Given the description of an element on the screen output the (x, y) to click on. 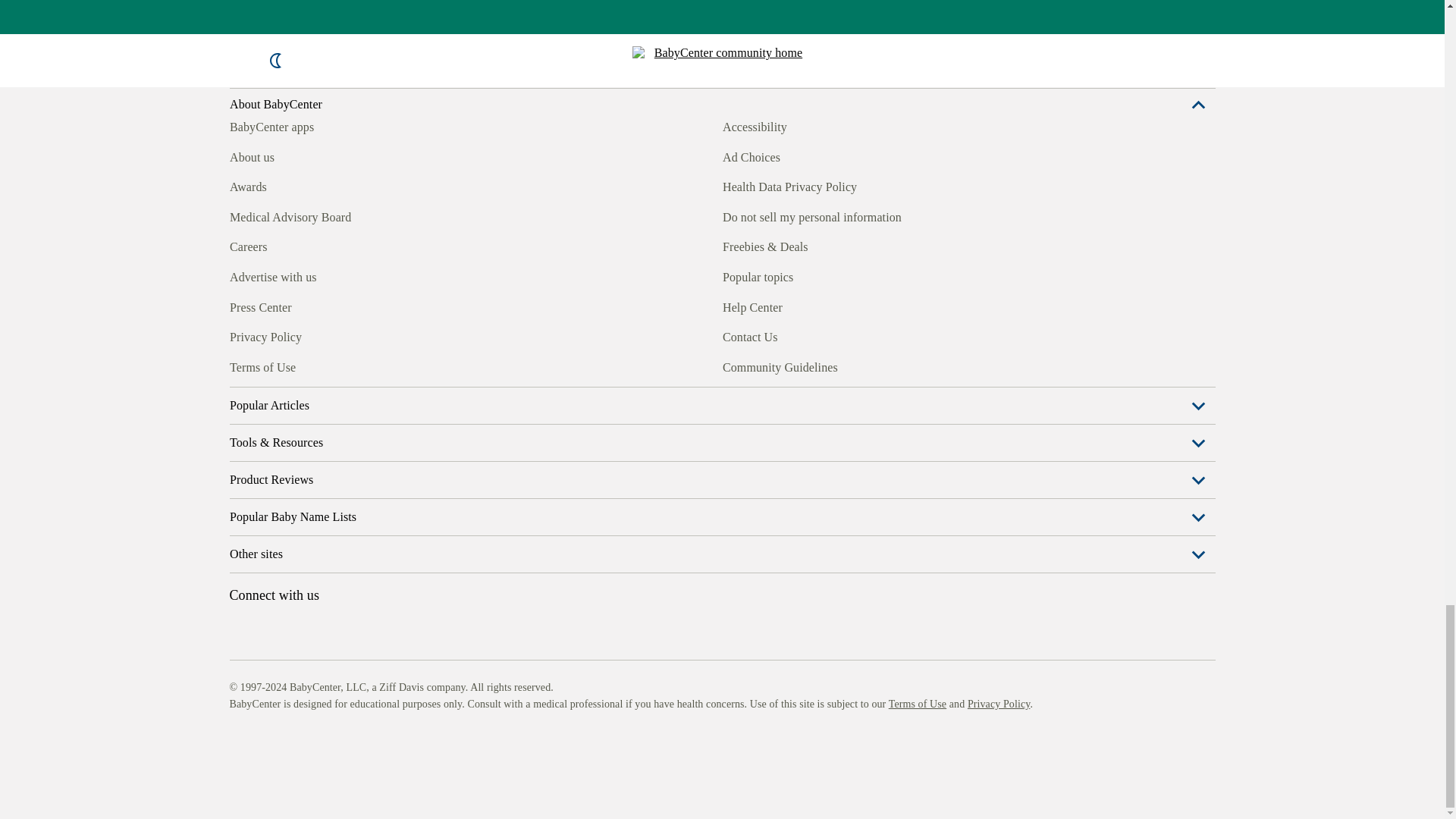
BabyCenter Pinterest board (309, 364)
BabyCenter Instagram feed (274, 364)
BabyCenter YouTube channel (344, 364)
BabyCenter Twitter feed (379, 364)
BabyCenter Facebook page (239, 364)
